Given the description of an element on the screen output the (x, y) to click on. 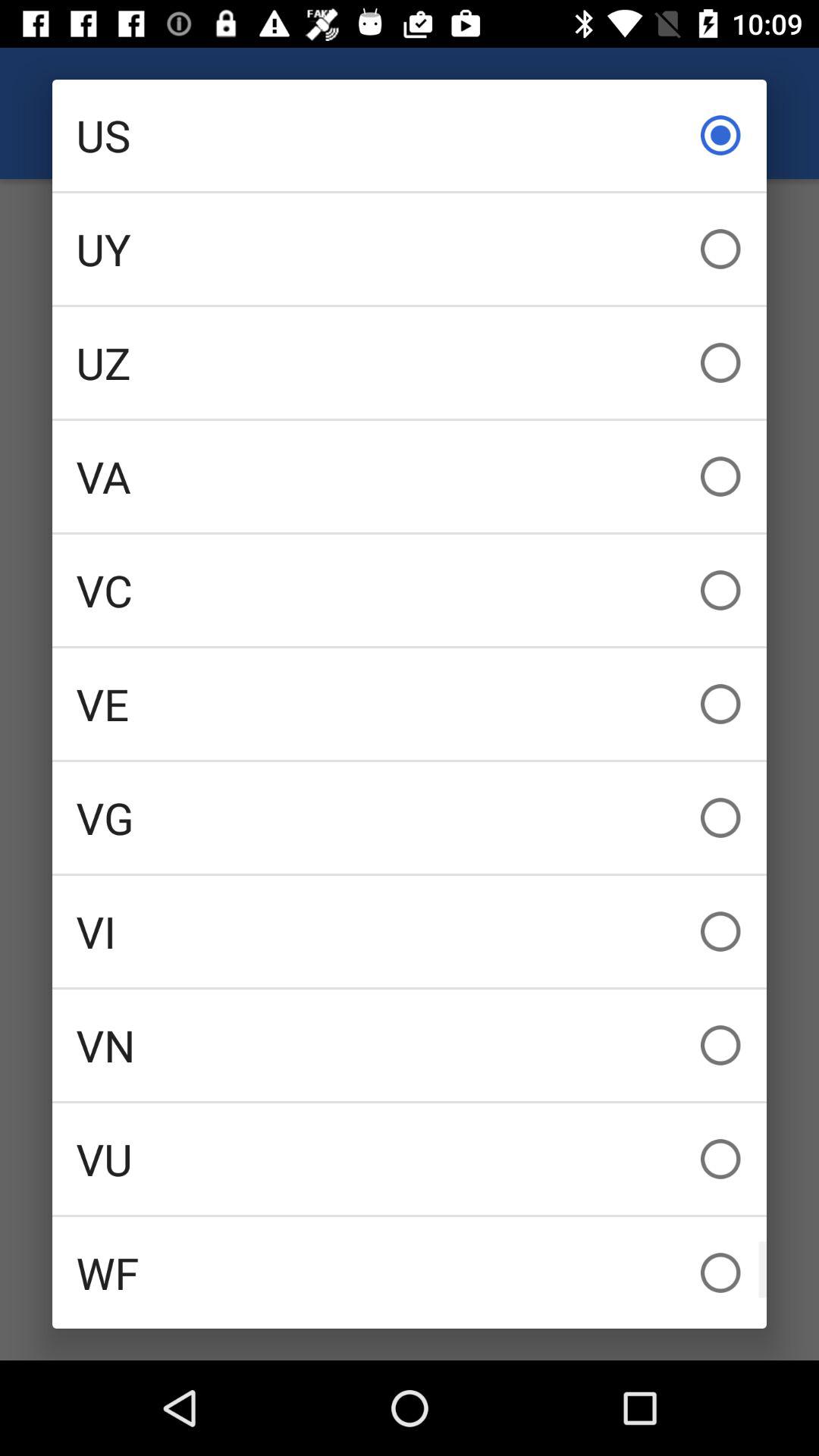
launch uz item (409, 362)
